Given the description of an element on the screen output the (x, y) to click on. 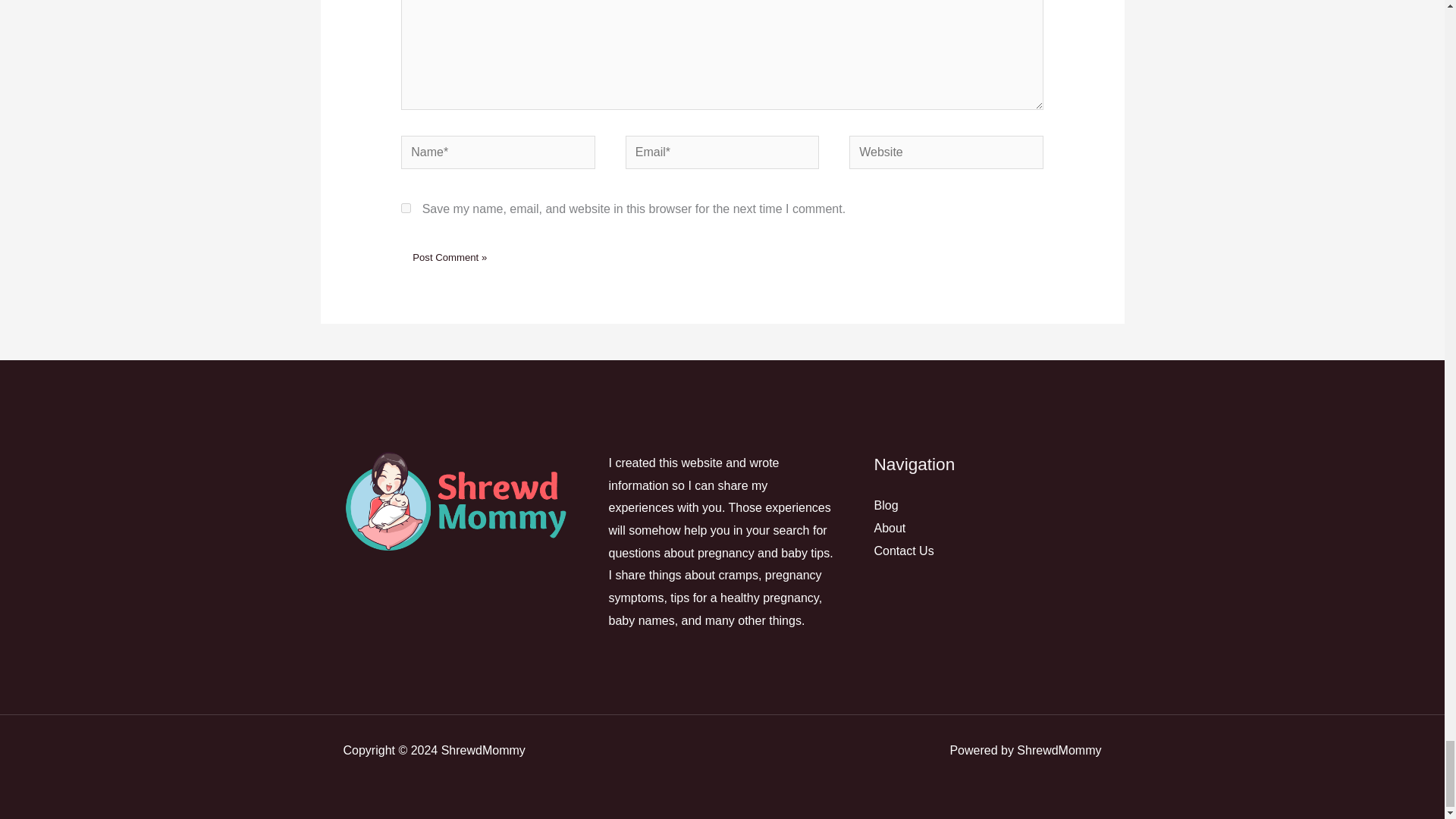
Contact Us (903, 550)
yes (405, 207)
About (889, 527)
Blog (885, 504)
